Given the description of an element on the screen output the (x, y) to click on. 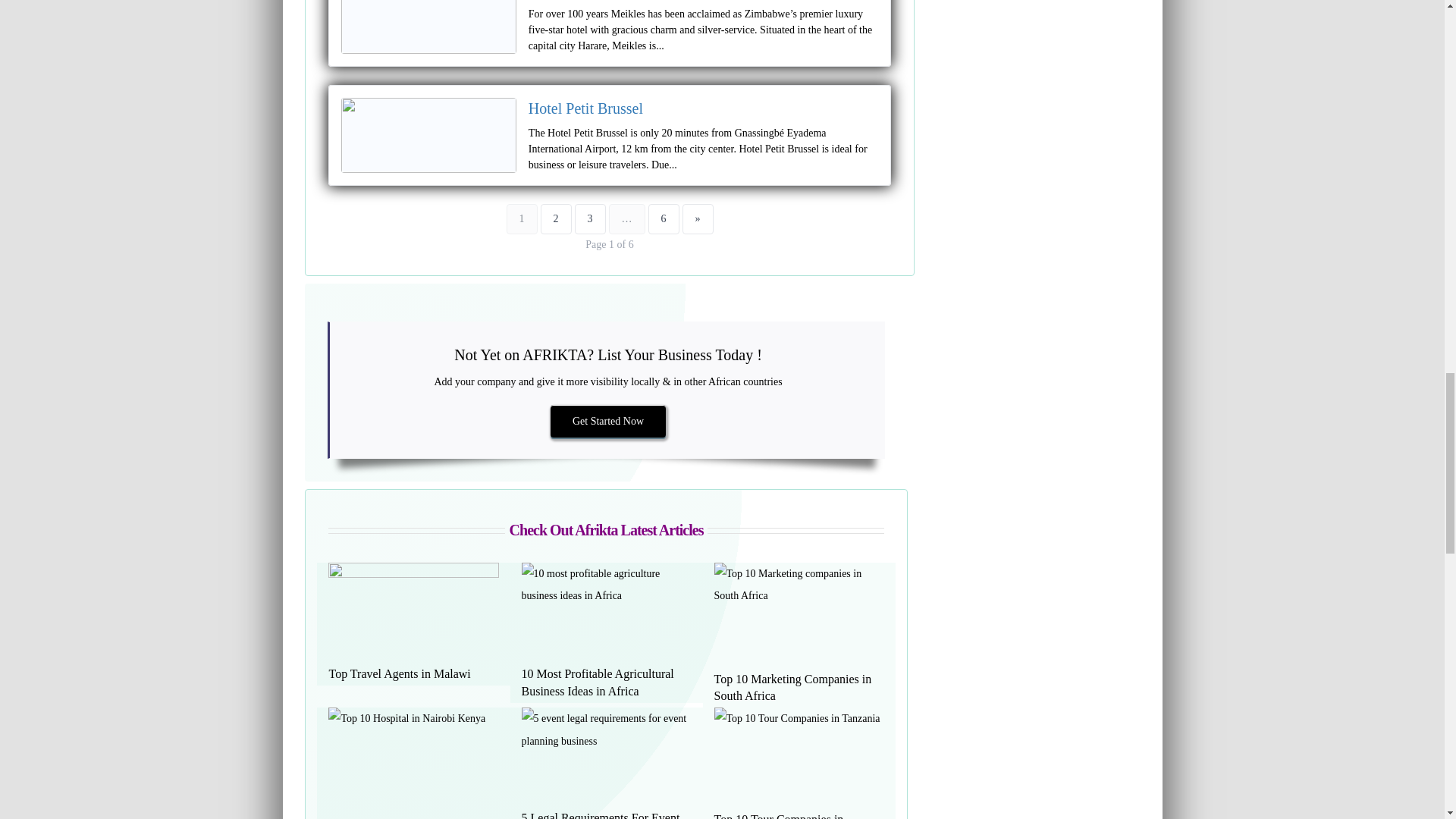
Hotel Petit Brussel (585, 108)
